Given the description of an element on the screen output the (x, y) to click on. 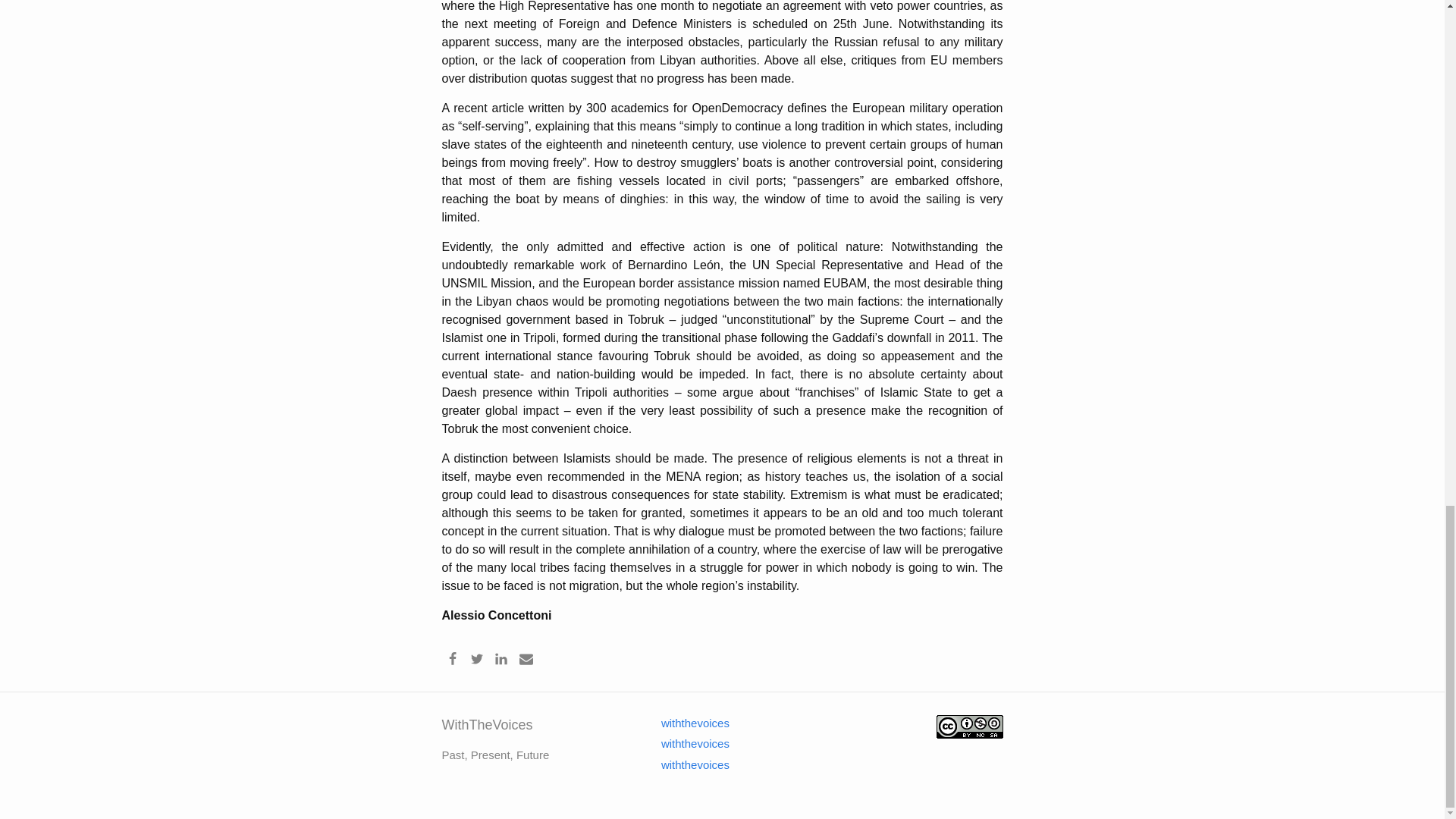
withthevoices (685, 722)
withthevoices (685, 743)
Share this on Twitter (476, 658)
Share this on Linkedin (501, 658)
Share this through Email (526, 658)
withthevoices (685, 764)
Share this on Facebook (452, 658)
